Given the description of an element on the screen output the (x, y) to click on. 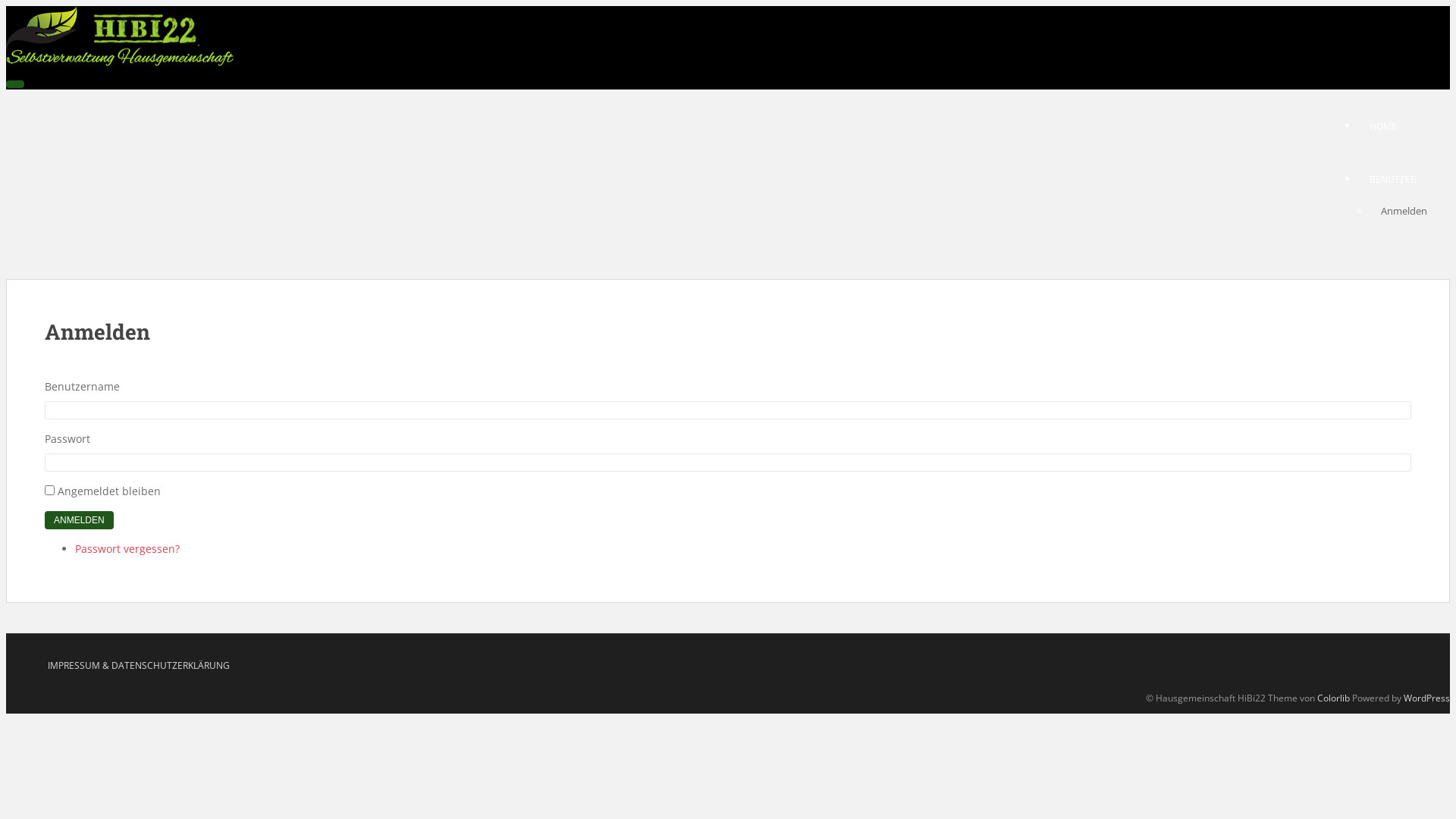
BENUTZER Element type: text (1392, 179)
WordPress Element type: text (1426, 697)
Passwort vergessen? Element type: text (127, 548)
Colorlib Element type: text (1333, 697)
ANMELDEN Element type: text (78, 520)
Anmelden Element type: text (1403, 210)
Skip to main content Element type: text (5, 5)
TOGGLE NAVIGATION Element type: text (15, 83)
HOME Element type: text (1382, 126)
